Given the description of an element on the screen output the (x, y) to click on. 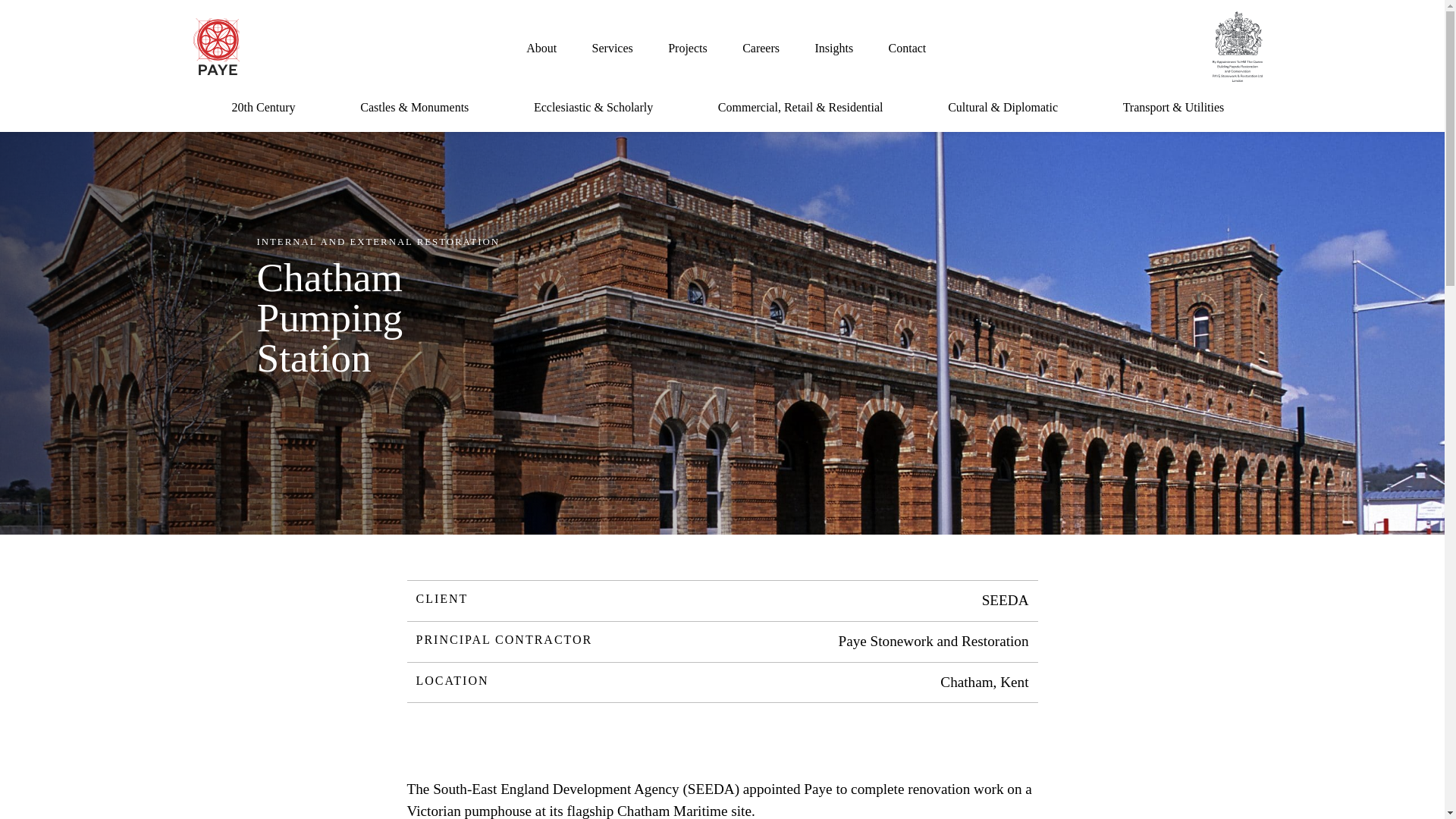
Services (612, 48)
Projects (687, 48)
Insights (833, 48)
Careers (760, 48)
20th Century (263, 106)
About (540, 48)
Contact (907, 48)
